Given the description of an element on the screen output the (x, y) to click on. 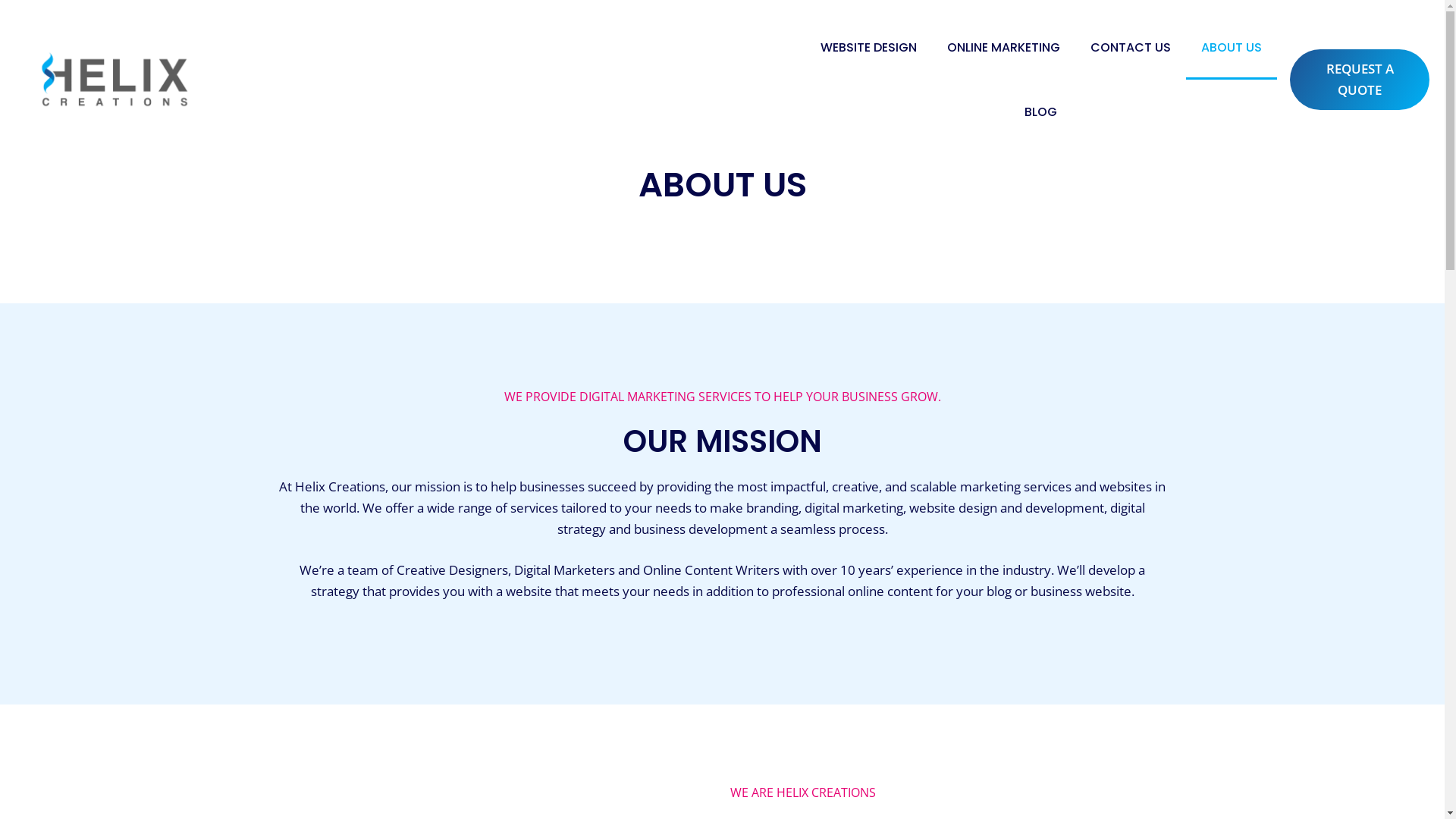
WEBSITE DESIGN Element type: text (868, 47)
CONTACT US Element type: text (1130, 47)
ONLINE MARKETING Element type: text (1003, 47)
BLOG Element type: text (1040, 111)
REQUEST A QUOTE Element type: text (1359, 79)
ABOUT US Element type: text (1231, 47)
